Given the description of an element on the screen output the (x, y) to click on. 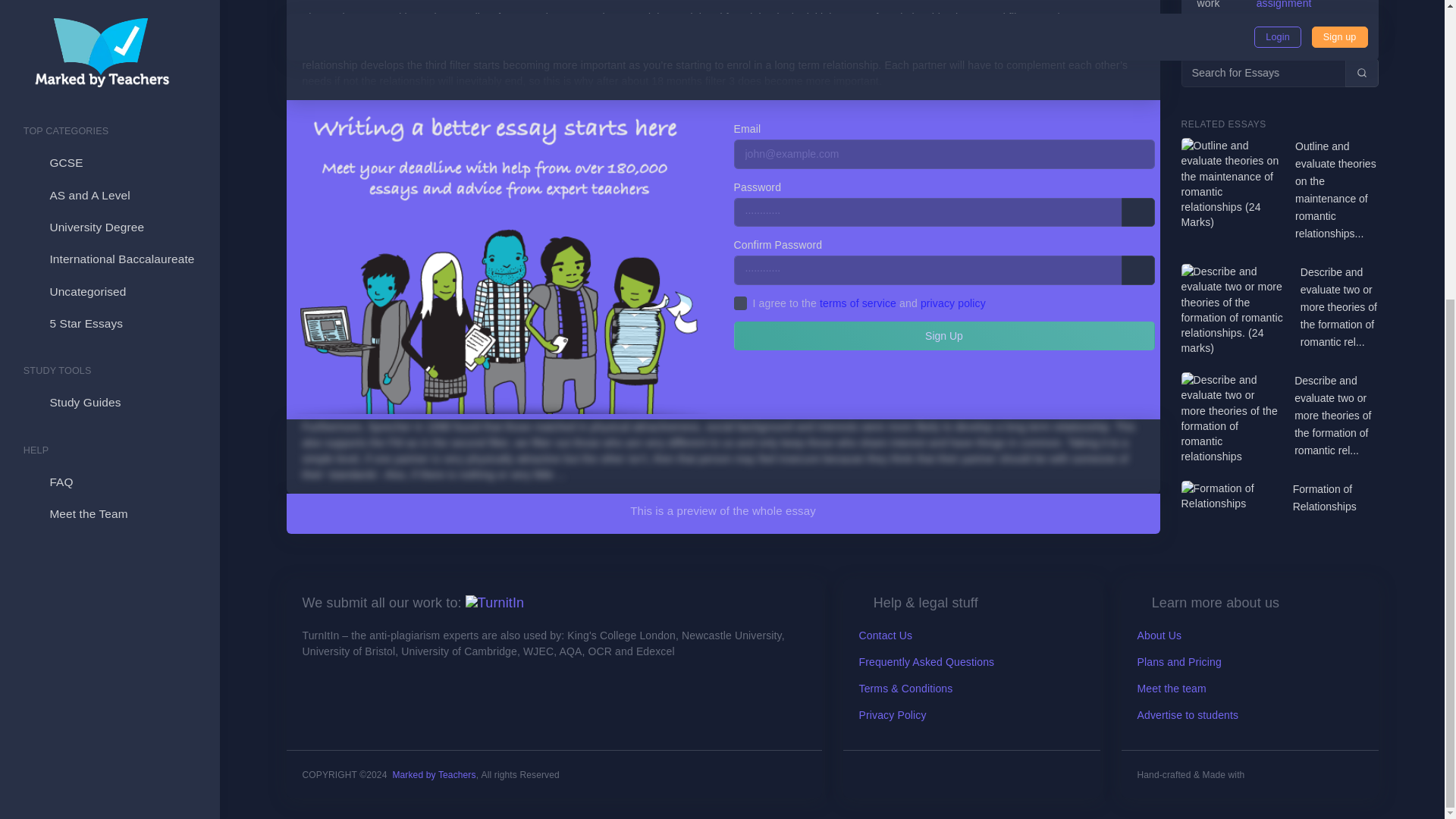
Quick search (1361, 72)
Meet the Team (109, 50)
About Us (1159, 635)
terms of service (857, 303)
privacy policy (952, 303)
FAQ (109, 18)
FAQ (109, 18)
Formation of Relationships (1335, 497)
Formation of Relationships (1335, 497)
